Given the description of an element on the screen output the (x, y) to click on. 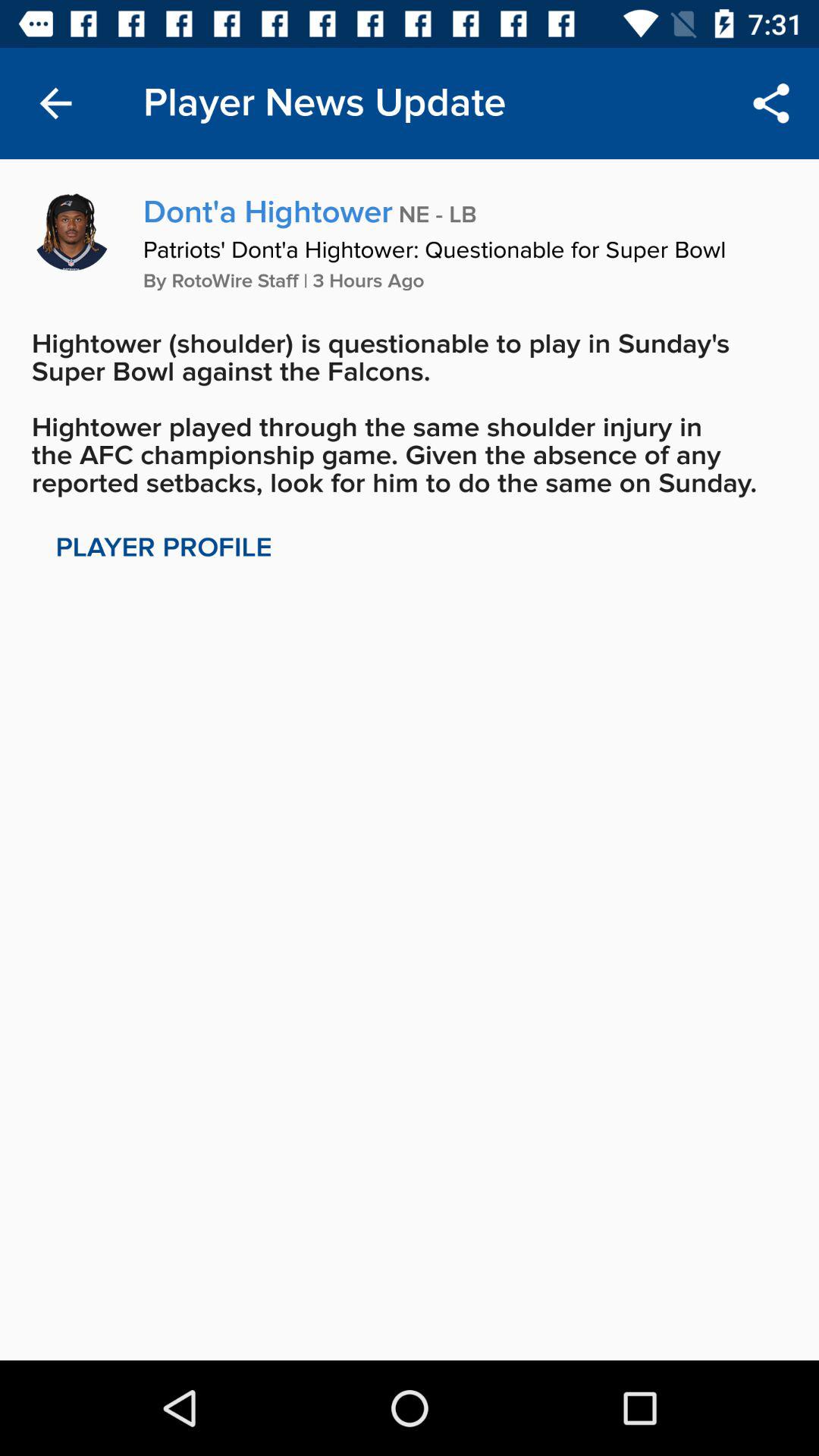
click item to the right of player news update item (771, 103)
